Given the description of an element on the screen output the (x, y) to click on. 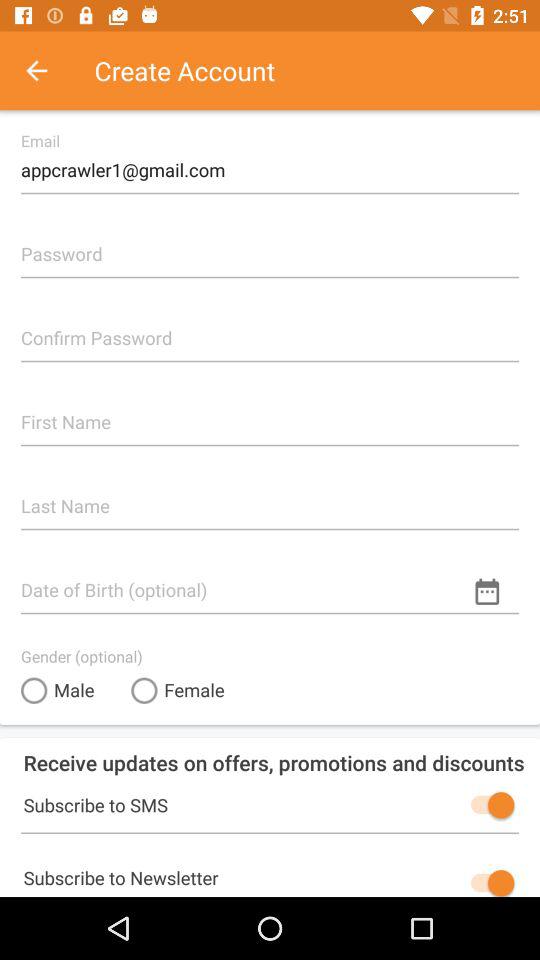
toggles the subscription to sms messages (487, 805)
